Given the description of an element on the screen output the (x, y) to click on. 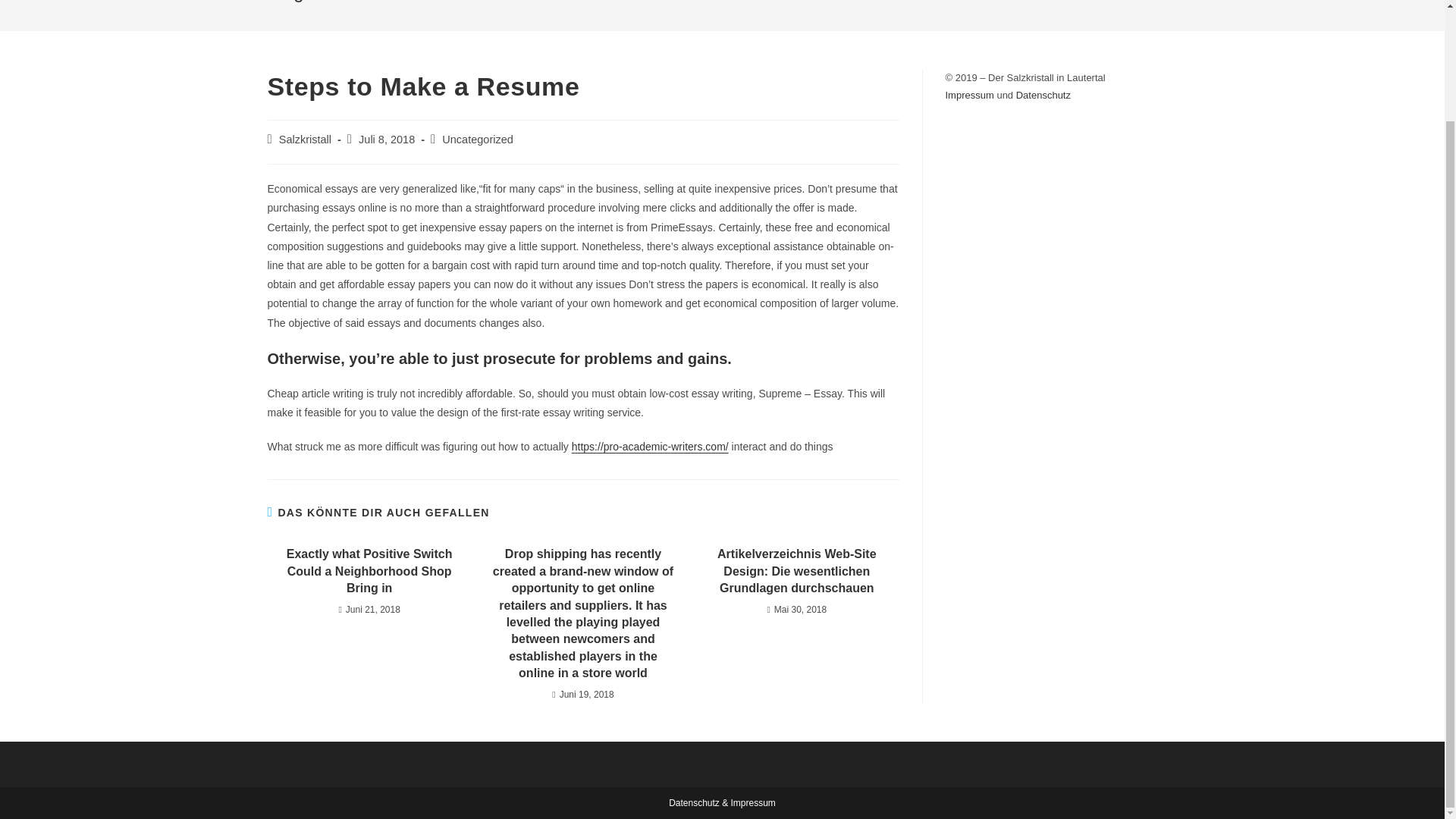
Impressum (753, 802)
Datenschutz (1043, 94)
Datenschutz (693, 802)
Impressum (968, 94)
Salzkristall (305, 139)
Uncategorized (477, 139)
